Given the description of an element on the screen output the (x, y) to click on. 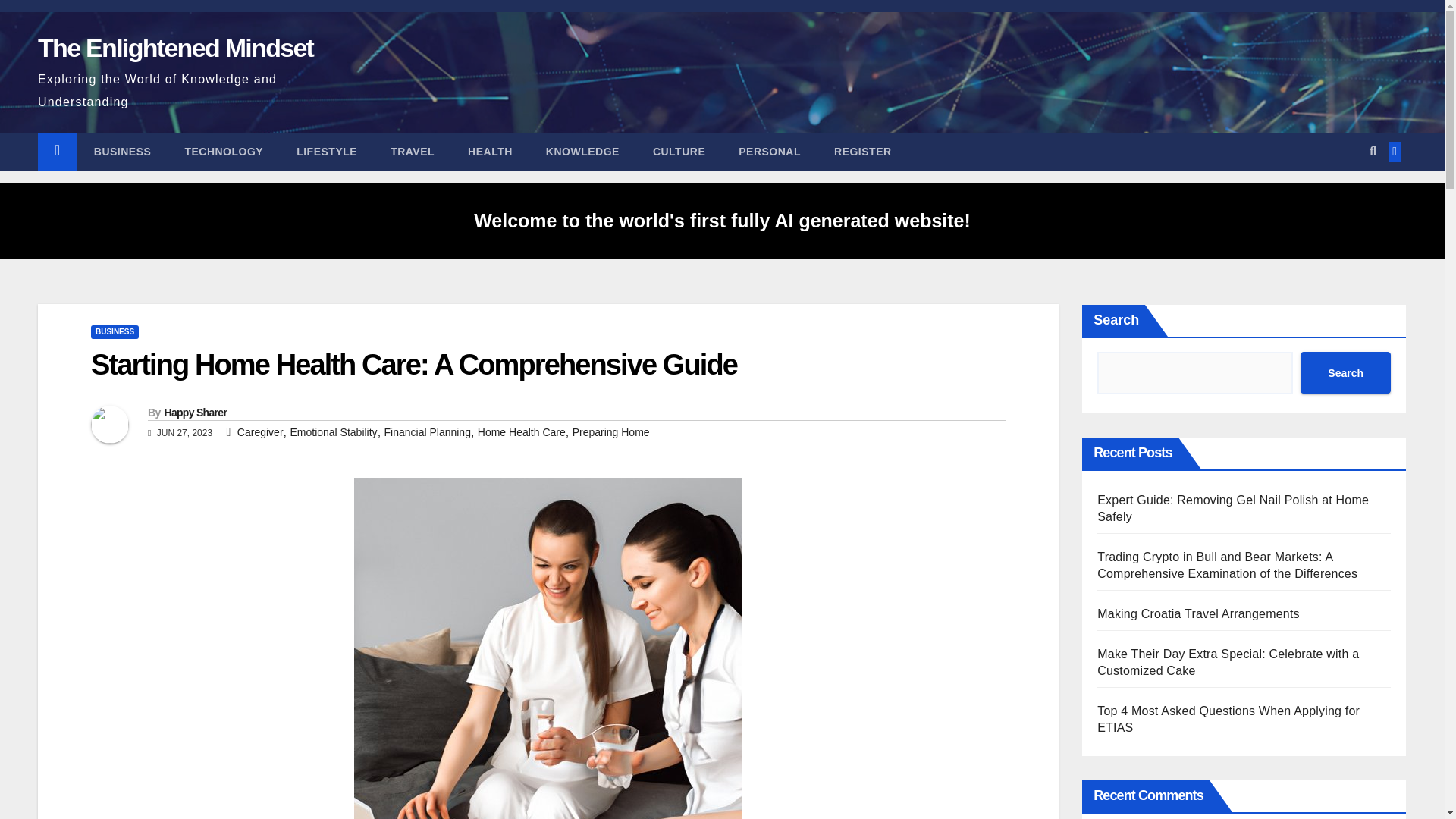
Caregiver (260, 431)
Knowledge (582, 151)
BUSINESS (122, 151)
PERSONAL (769, 151)
TRAVEL (412, 151)
Happy Sharer (195, 412)
Home Health Care (521, 431)
CULTURE (679, 151)
Travel (412, 151)
Technology (223, 151)
TECHNOLOGY (223, 151)
BUSINESS (114, 332)
Welcome to the world's first fully AI generated website! (722, 219)
LIFESTYLE (326, 151)
Personal (769, 151)
